Given the description of an element on the screen output the (x, y) to click on. 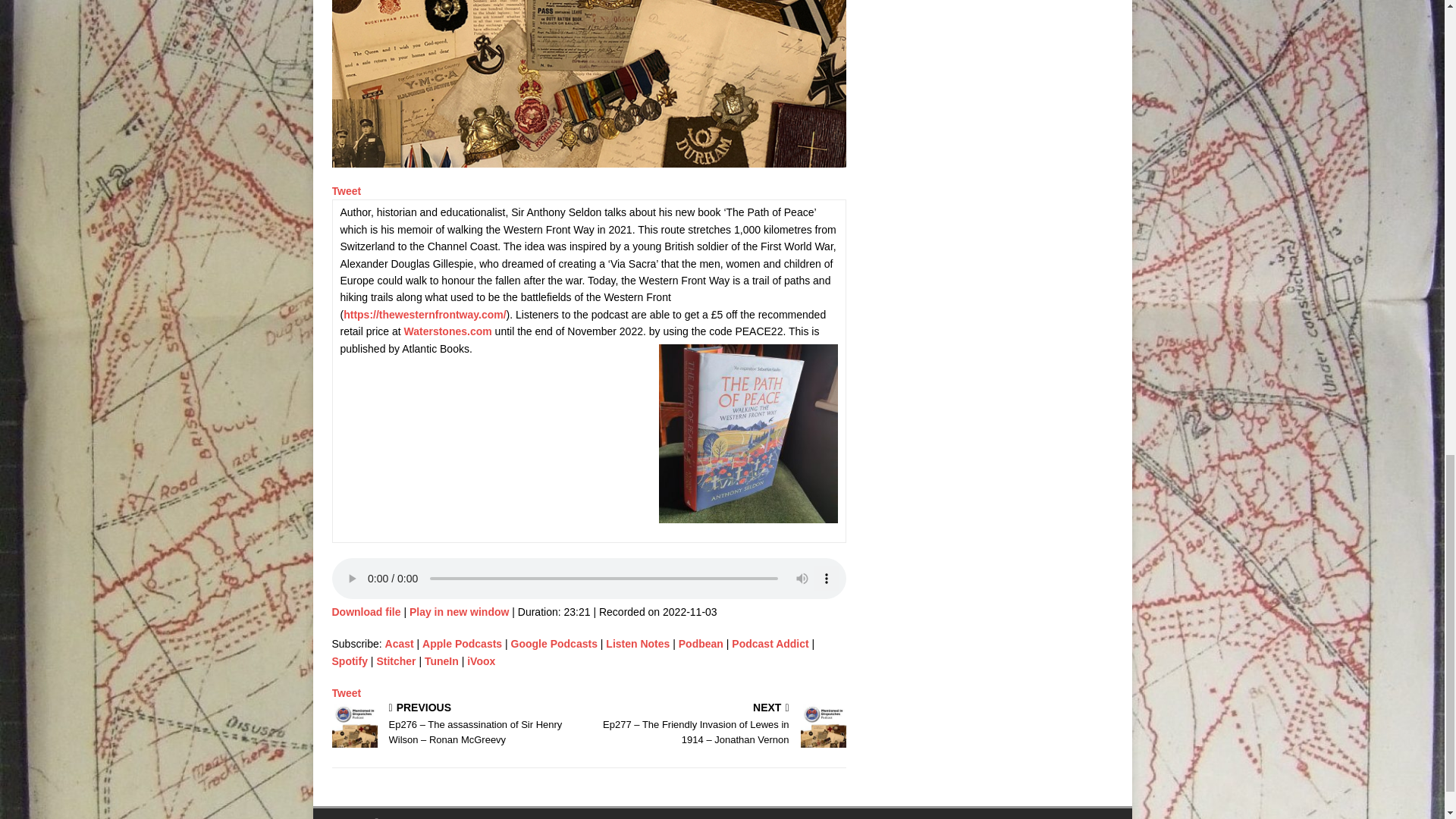
Google Podcasts (553, 644)
Podbean (700, 644)
Listen Notes (637, 644)
Apple Podcasts (462, 644)
Spotify (349, 661)
Acast (399, 644)
Podcast Addict (770, 644)
